Given the description of an element on the screen output the (x, y) to click on. 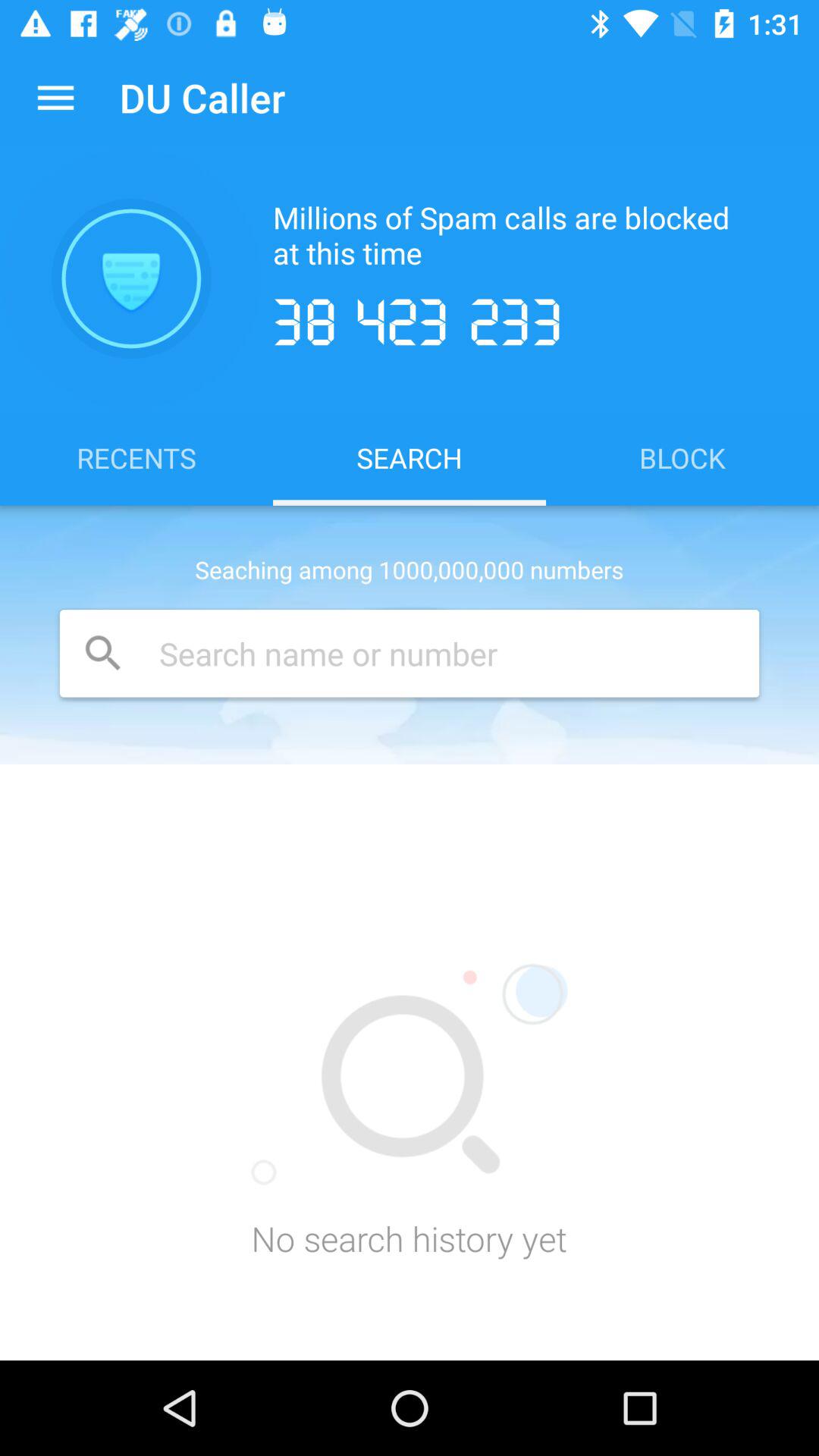
launch icon above the recents (131, 278)
